Given the description of an element on the screen output the (x, y) to click on. 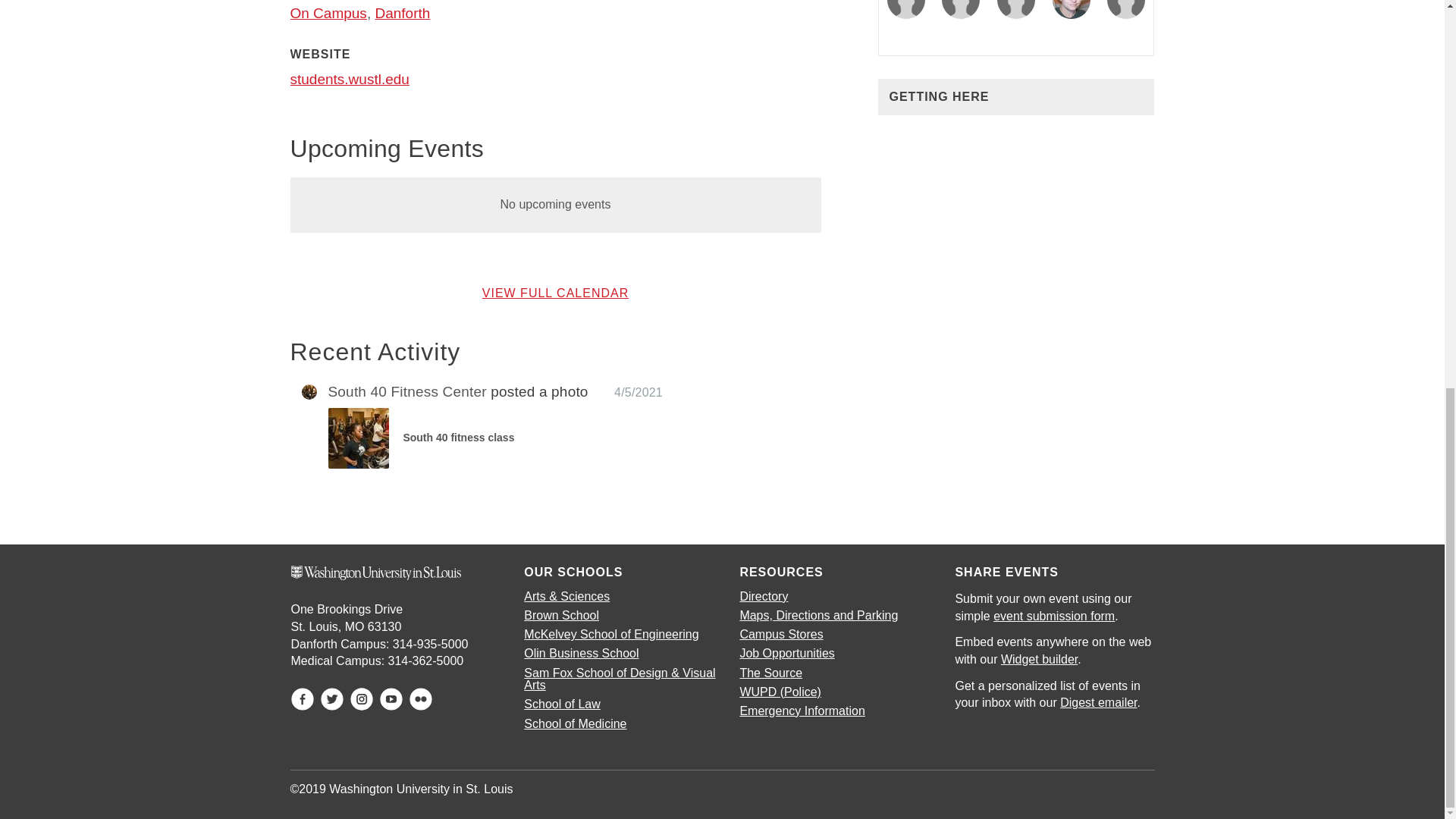
Facebook (302, 698)
On Campus (327, 12)
students.wustl.edu (349, 78)
South 40 Fitness Center (406, 391)
Danforth (401, 12)
Flickr (420, 698)
McKelvey School of Engineering (611, 634)
Instagram (361, 698)
YouTube (391, 698)
VIEW FULL CALENDAR (554, 292)
Brown School (561, 615)
Twitter (331, 698)
Event Location Map (1015, 209)
